Given the description of an element on the screen output the (x, y) to click on. 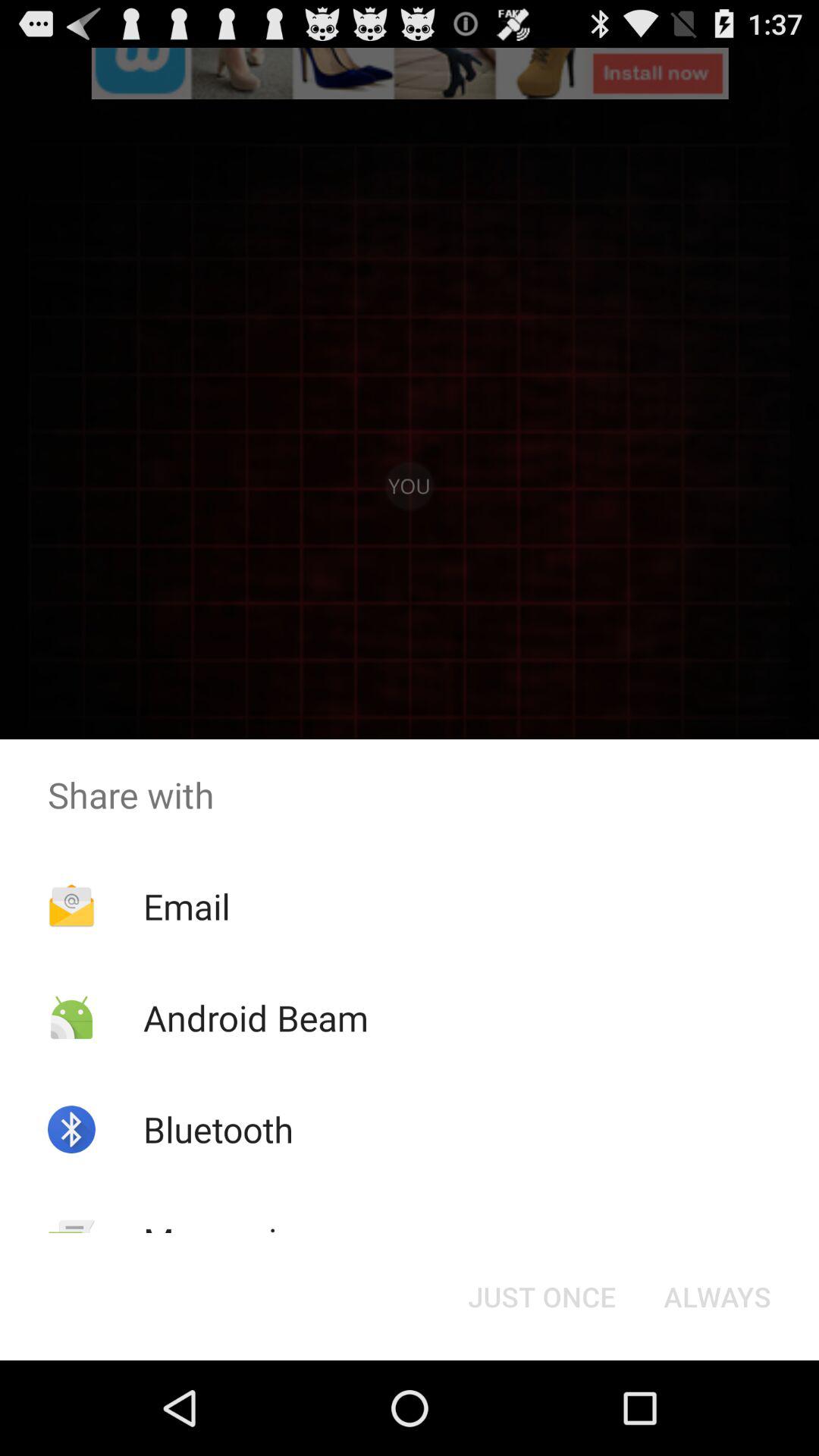
select the button to the left of the always (541, 1296)
